Given the description of an element on the screen output the (x, y) to click on. 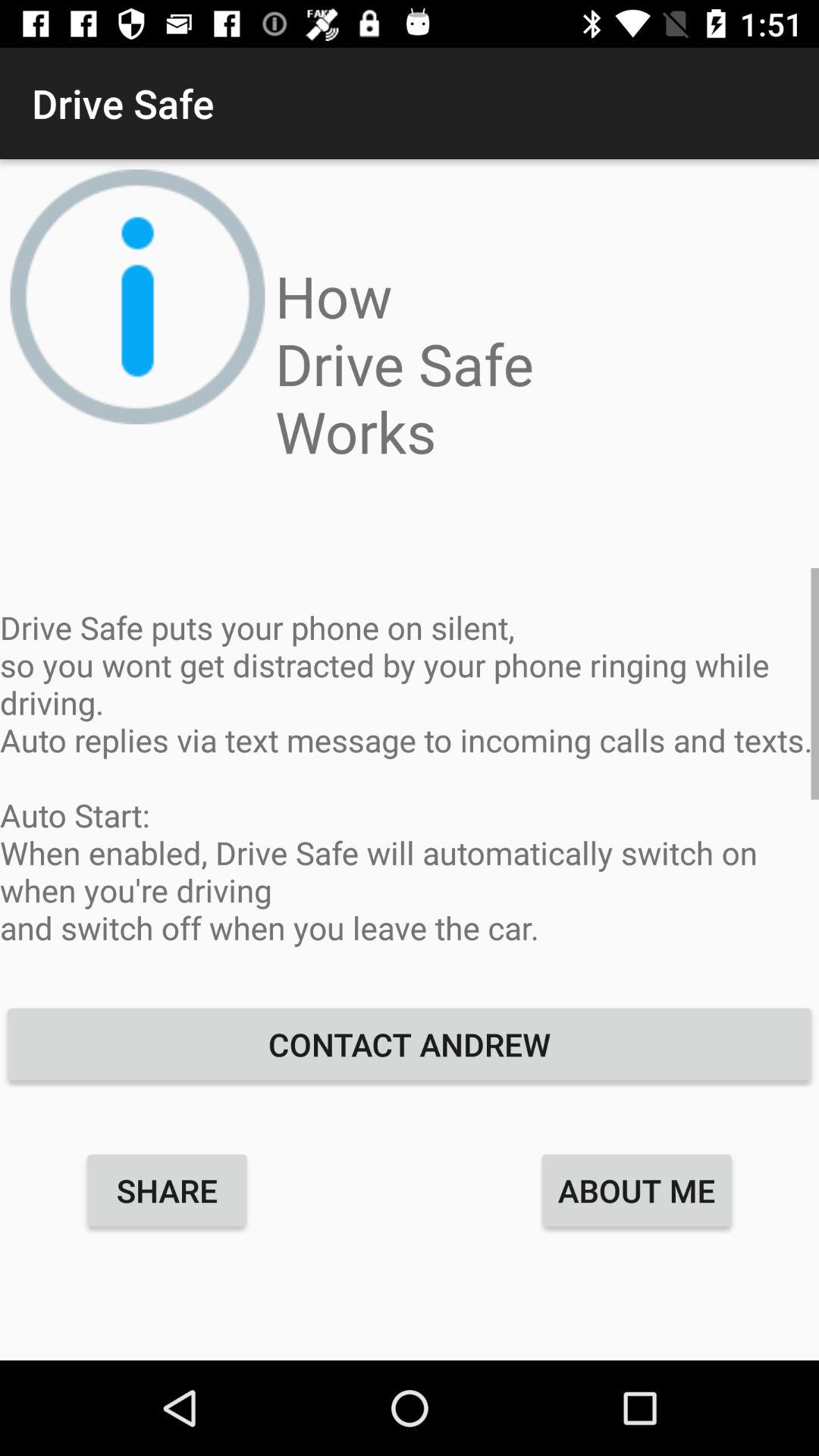
press the about me (636, 1190)
